Given the description of an element on the screen output the (x, y) to click on. 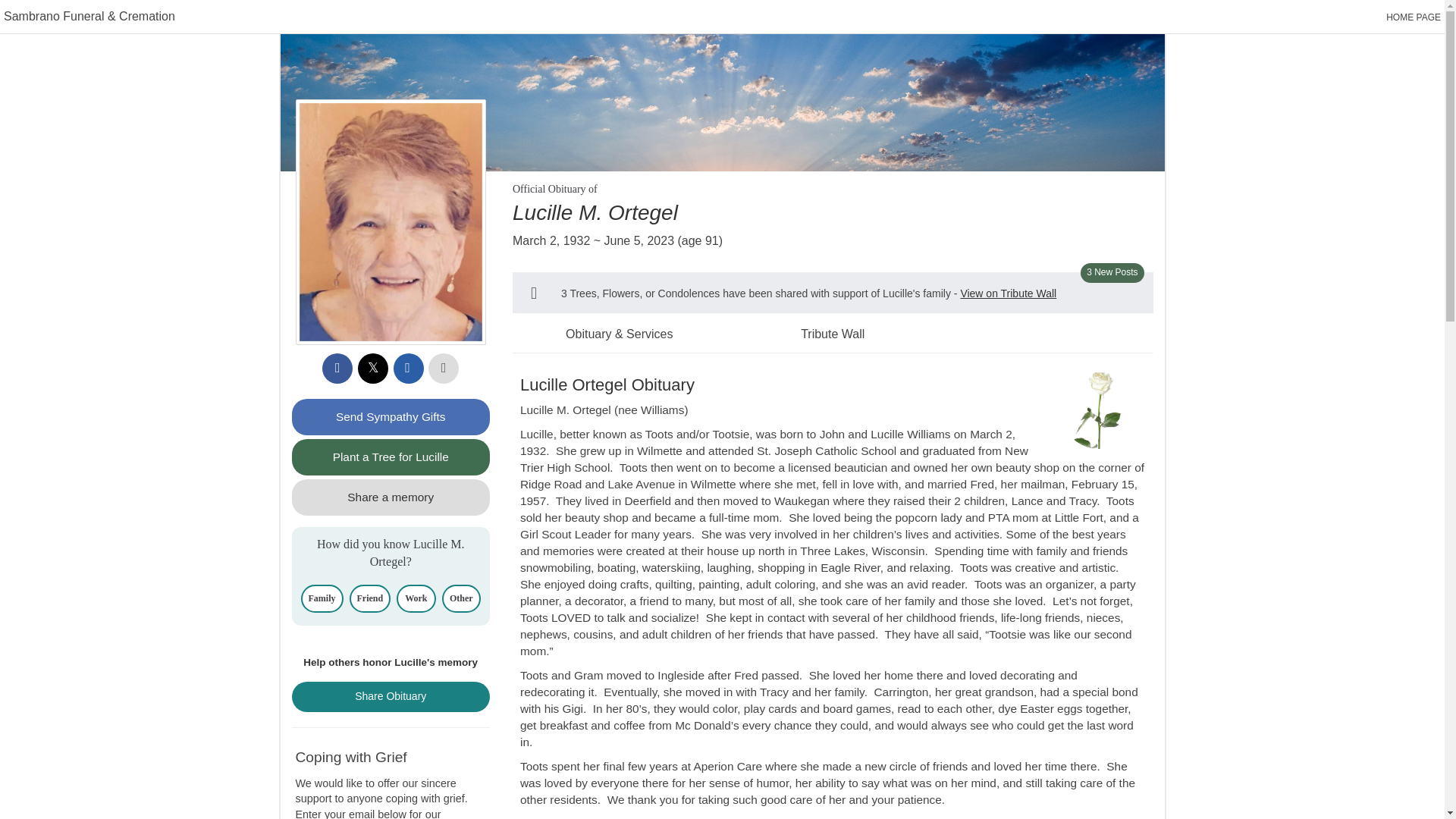
Share a memory (390, 497)
Plant a Tree for Lucille (390, 456)
HOME PAGE (1413, 17)
Share Obituary (390, 696)
Share on X (373, 368)
Share to Facebook (336, 368)
Send Sympathy Gifts (390, 416)
Printable copy (443, 368)
Share via email (408, 368)
View on Tribute Wall (1008, 293)
